Given the description of an element on the screen output the (x, y) to click on. 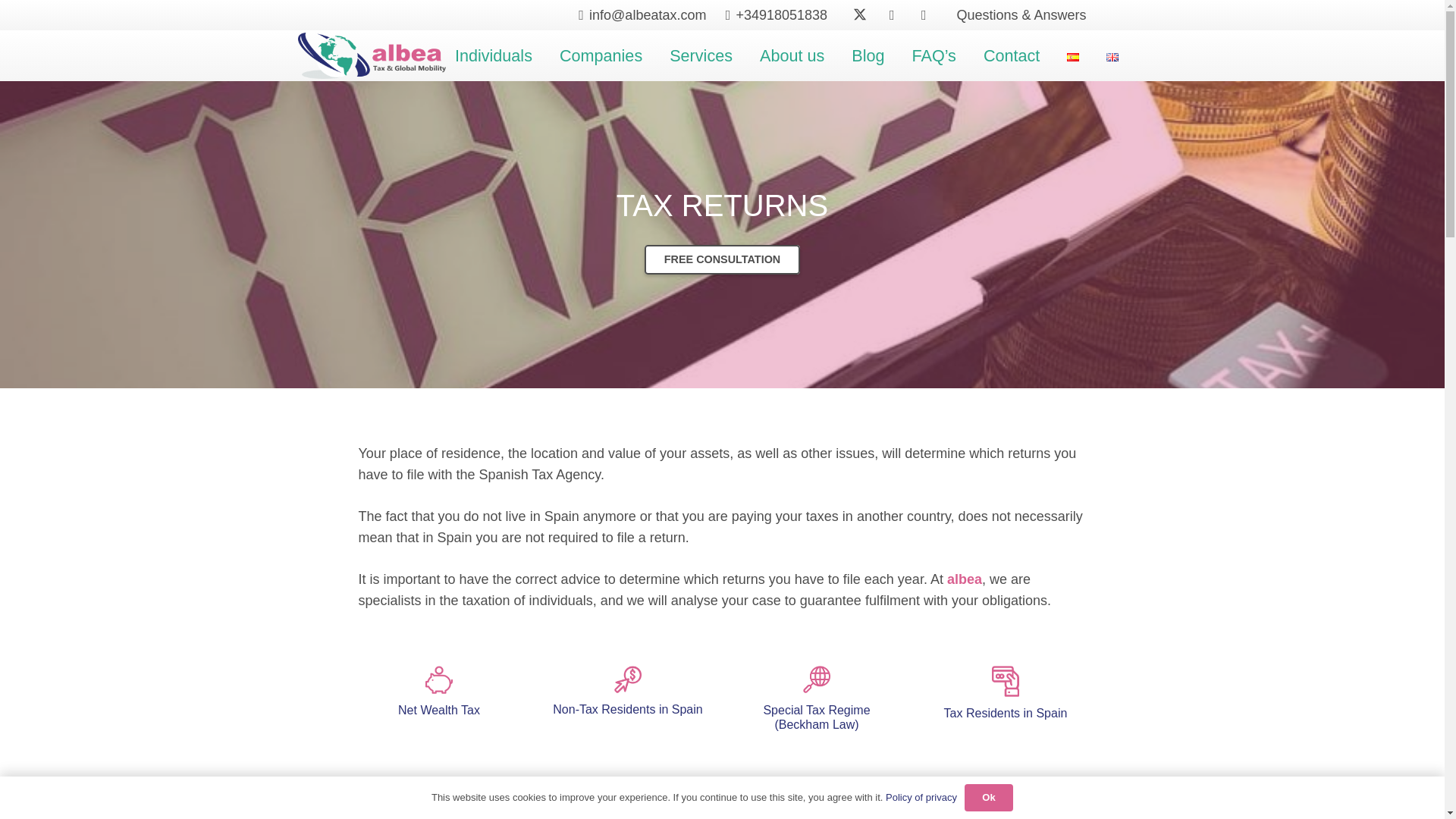
FREE CONSULTATION (722, 259)
Individuals (493, 55)
Net Wealth Tax (438, 709)
Contact (1010, 55)
Twitter (859, 14)
About us (791, 55)
Blog (868, 55)
Non-Tax Residents in Spain (627, 708)
Companies (601, 55)
Services (700, 55)
